Given the description of an element on the screen output the (x, y) to click on. 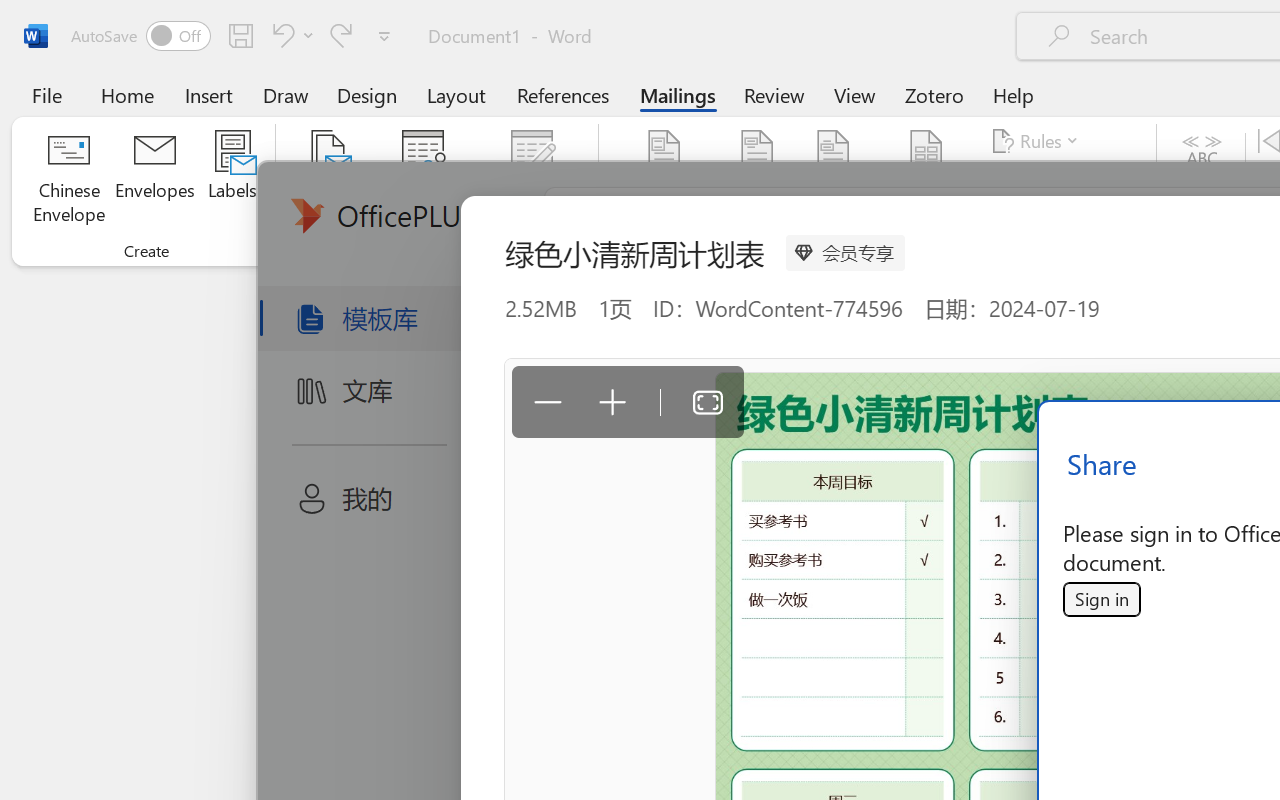
Update Labels (1064, 218)
Rules (1037, 141)
Envelopes... (155, 179)
Undo Apply Quick Style Set (290, 35)
Address Block... (757, 179)
